Given the description of an element on the screen output the (x, y) to click on. 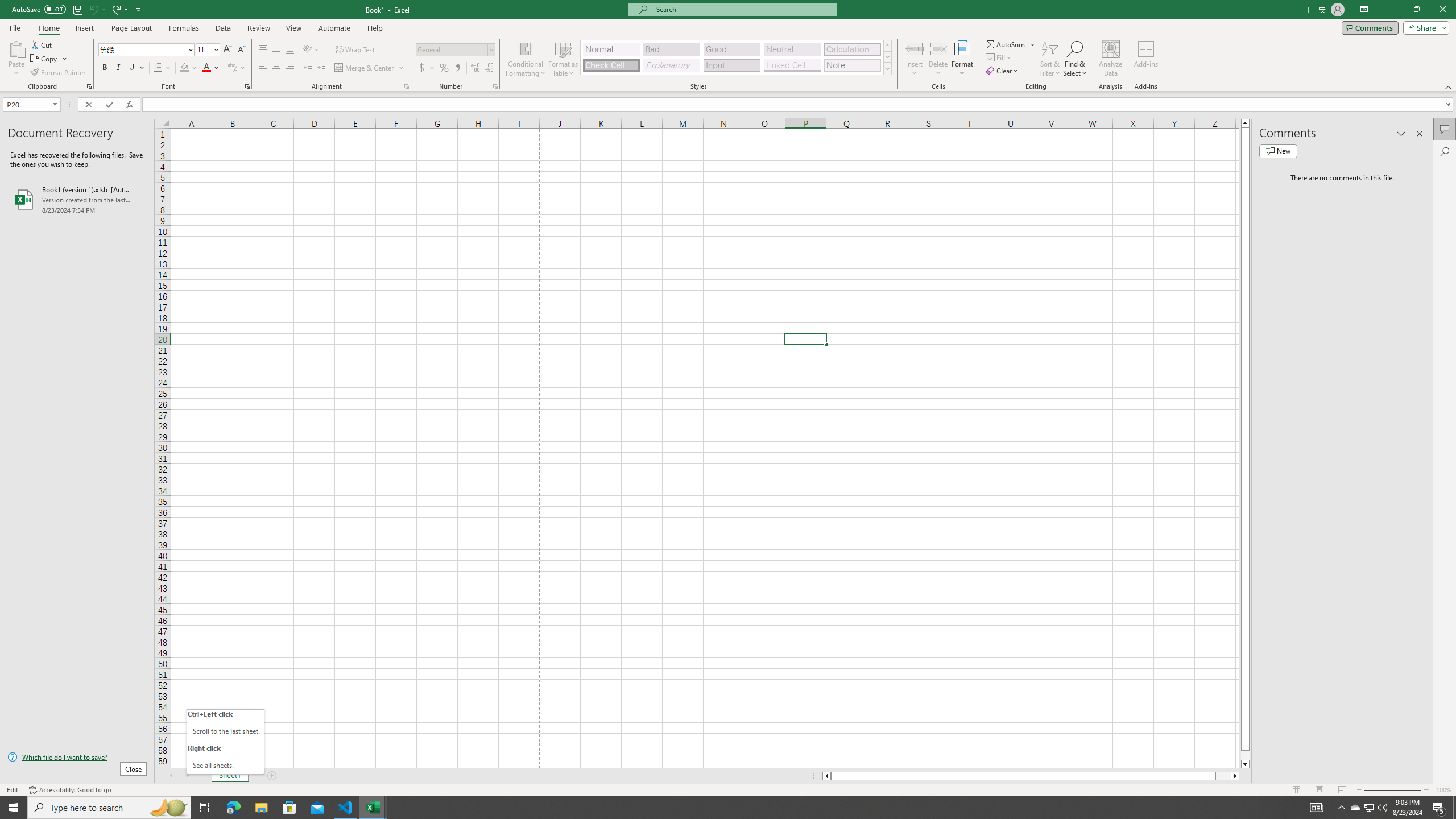
Accounting Number Format (426, 67)
Merge & Center (369, 67)
Office Clipboard... (88, 85)
Align Right (290, 67)
AutomationID: CellStylesGallery (736, 57)
Comma Style (457, 67)
Find & Select (1075, 58)
Fill (999, 56)
Font (142, 49)
